Given the description of an element on the screen output the (x, y) to click on. 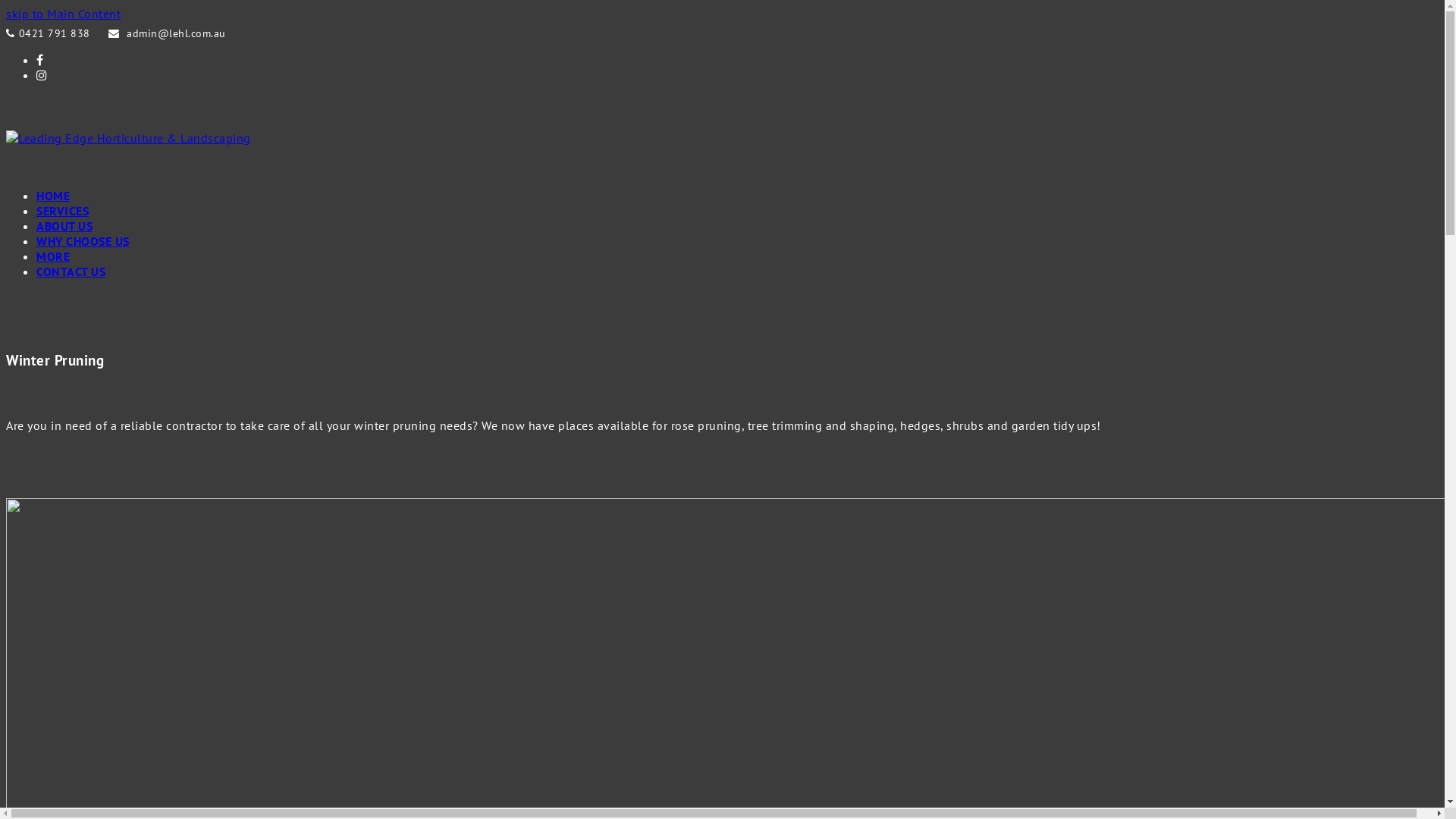
HOME Element type: text (52, 195)
Instagram Element type: text (41, 74)
MORE Element type: text (52, 255)
SERVICES Element type: text (62, 210)
Facebook Element type: text (39, 59)
WHY CHOOSE US Element type: text (82, 240)
skip to Main Content Element type: text (63, 13)
ABOUT US Element type: text (64, 225)
CONTACT US Element type: text (70, 271)
